Given the description of an element on the screen output the (x, y) to click on. 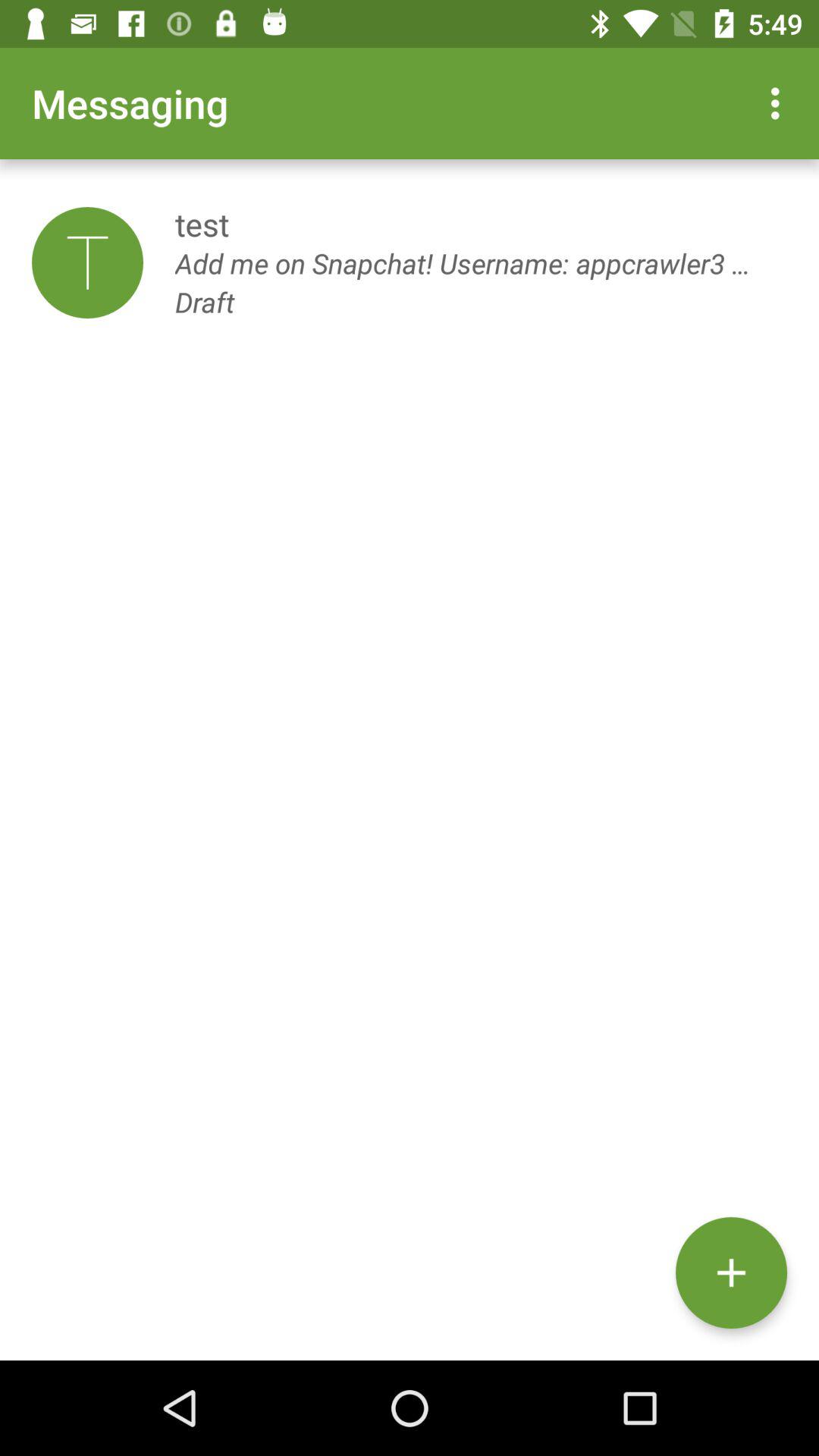
tap icon next to messaging app (779, 103)
